Given the description of an element on the screen output the (x, y) to click on. 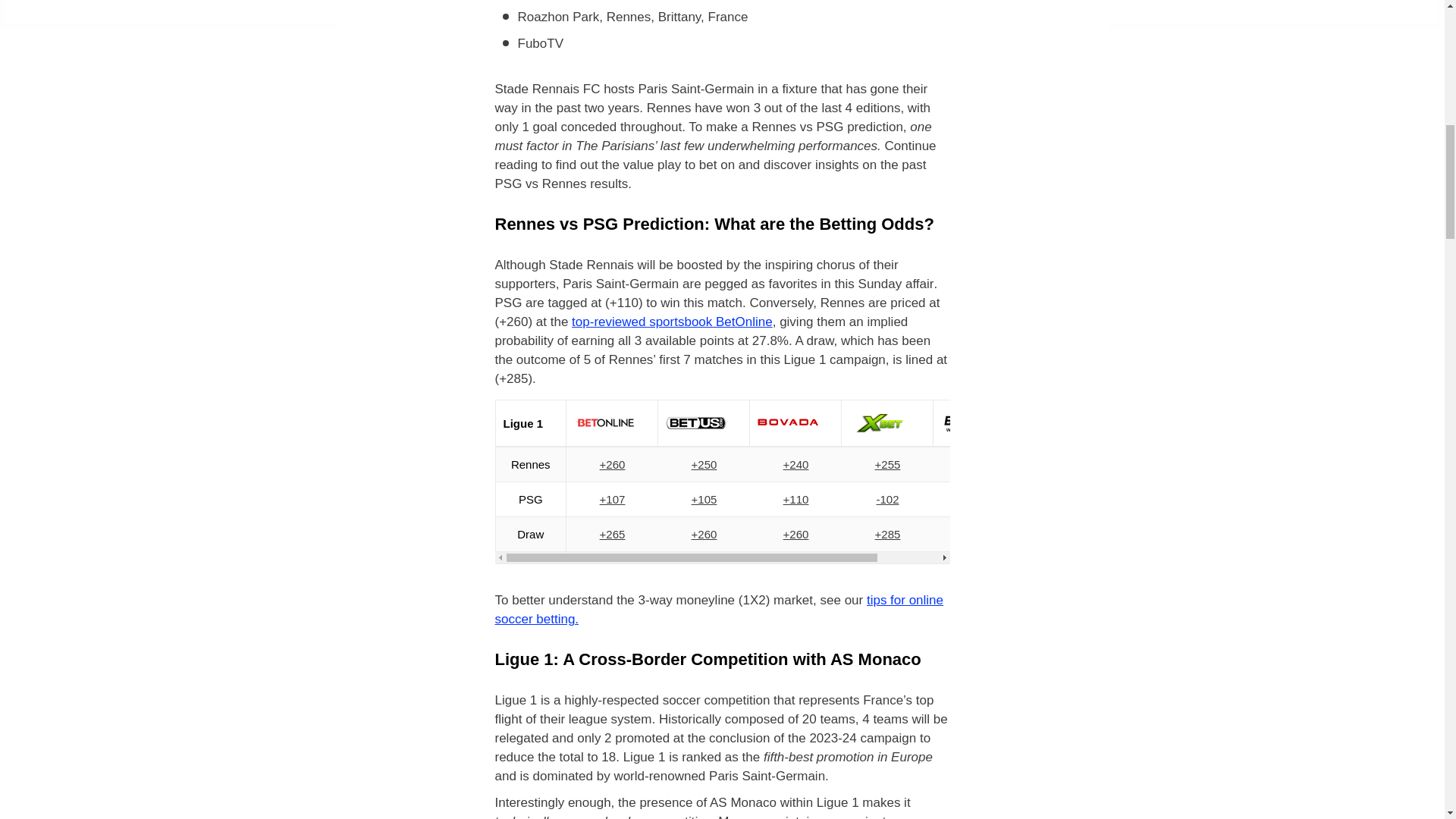
Ligue 1 (736, 423)
Ligue 1 (722, 423)
